Given the description of an element on the screen output the (x, y) to click on. 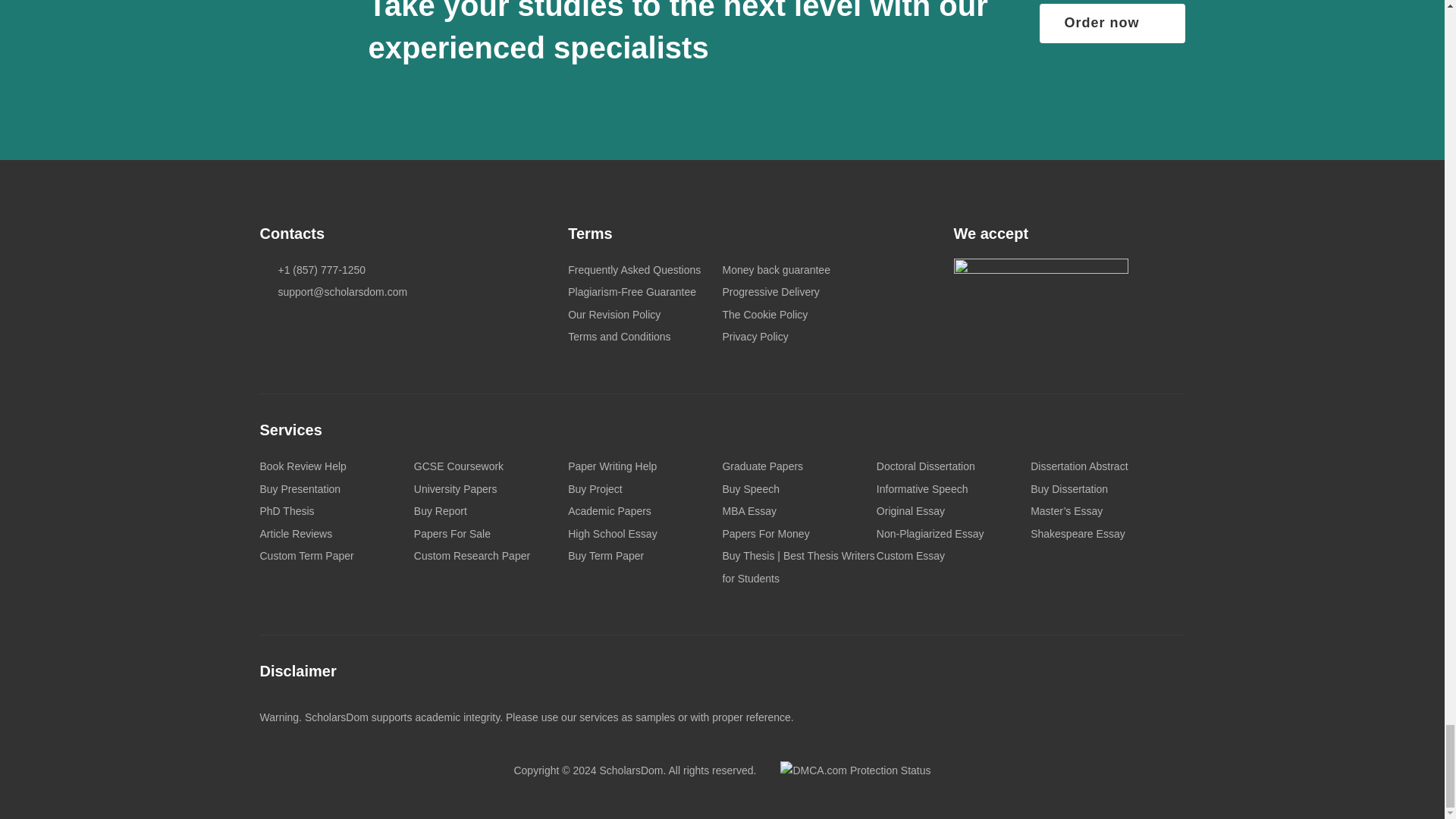
Order now (1112, 23)
The Cookie Policy (765, 314)
Privacy Policy (754, 336)
Our Revision Policy (614, 314)
Terms and Conditions (618, 336)
Money back guarantee (775, 269)
Frequently Asked Questions (633, 269)
Book Review Help (302, 466)
GCSE Coursework (458, 466)
Progressive Delivery (770, 291)
